Given the description of an element on the screen output the (x, y) to click on. 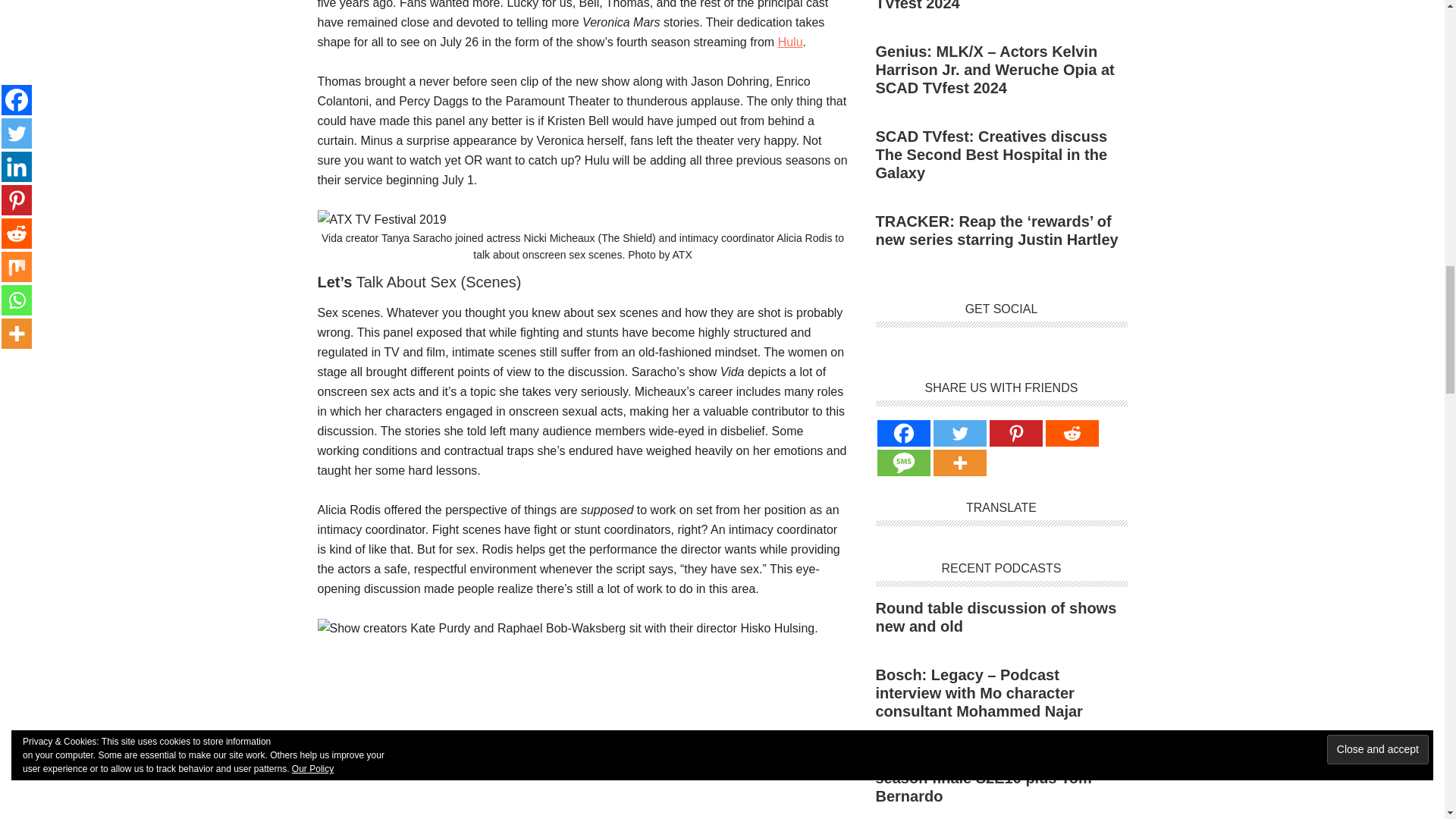
Hulu (790, 42)
